Given the description of an element on the screen output the (x, y) to click on. 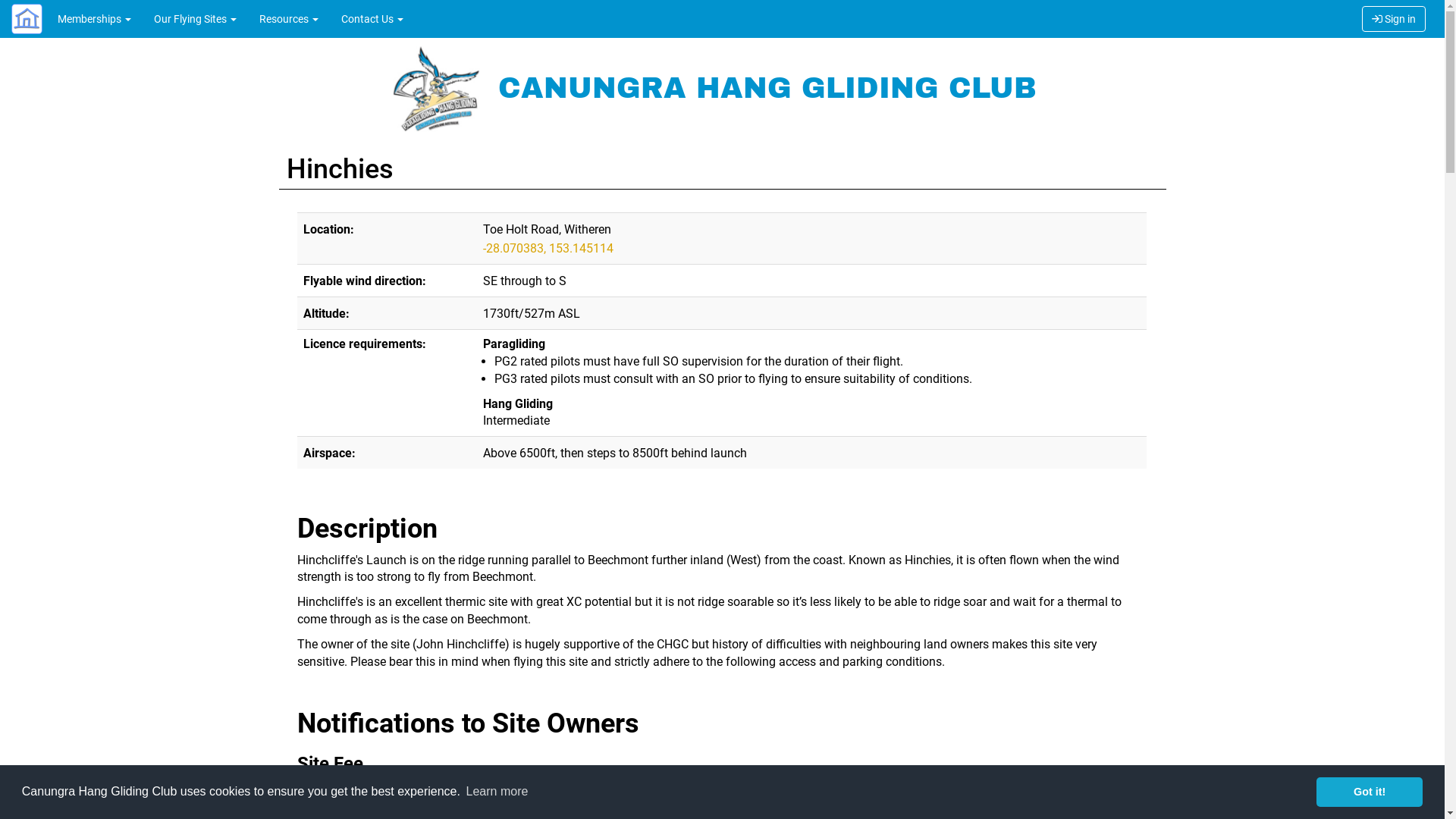
Learn more Element type: text (496, 791)
Contact Us Element type: text (371, 18)
Sign in Element type: text (1393, 18)
Our Flying Sites Element type: text (194, 18)
Memberships Element type: text (94, 18)
-28.070383, 153.145114 Element type: text (548, 258)
Home Element type: hover (23, 18)
Resources Element type: text (288, 18)
CHGC Main Website Element type: hover (437, 87)
Got it! Element type: text (1369, 791)
